Given the description of an element on the screen output the (x, y) to click on. 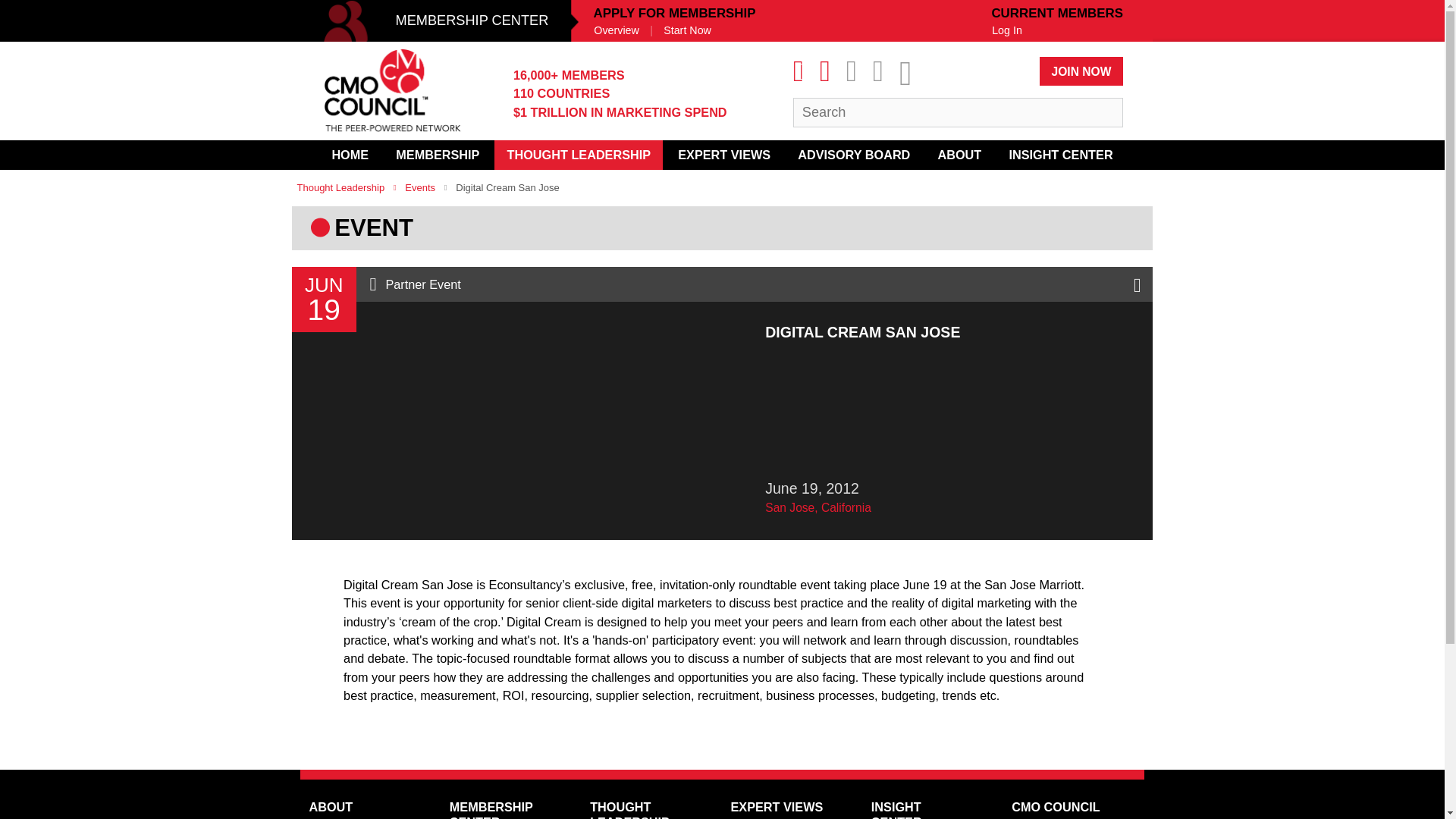
JOIN NOW (1080, 70)
DIGITAL CREAM SAN JOSE (721, 732)
Overview (616, 30)
MEMBERSHIP CENTER (437, 20)
Start Now (687, 30)
THOUGHT LEADERSHIP (578, 154)
HOME (349, 154)
MEMBERSHIP (438, 154)
Log In (1007, 30)
DIGITAL CREAM SAN JOSE (721, 622)
